Given the description of an element on the screen output the (x, y) to click on. 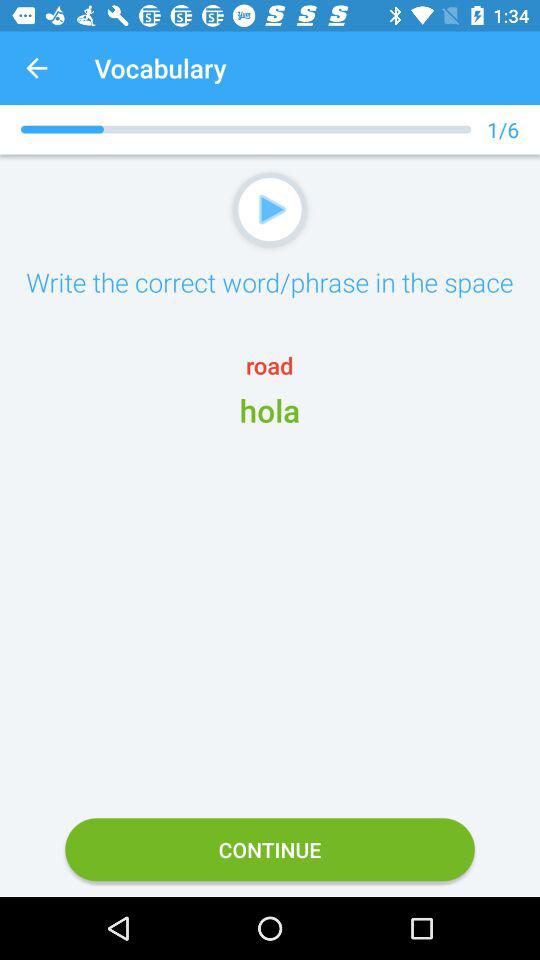
jump to the continue item (269, 849)
